Given the description of an element on the screen output the (x, y) to click on. 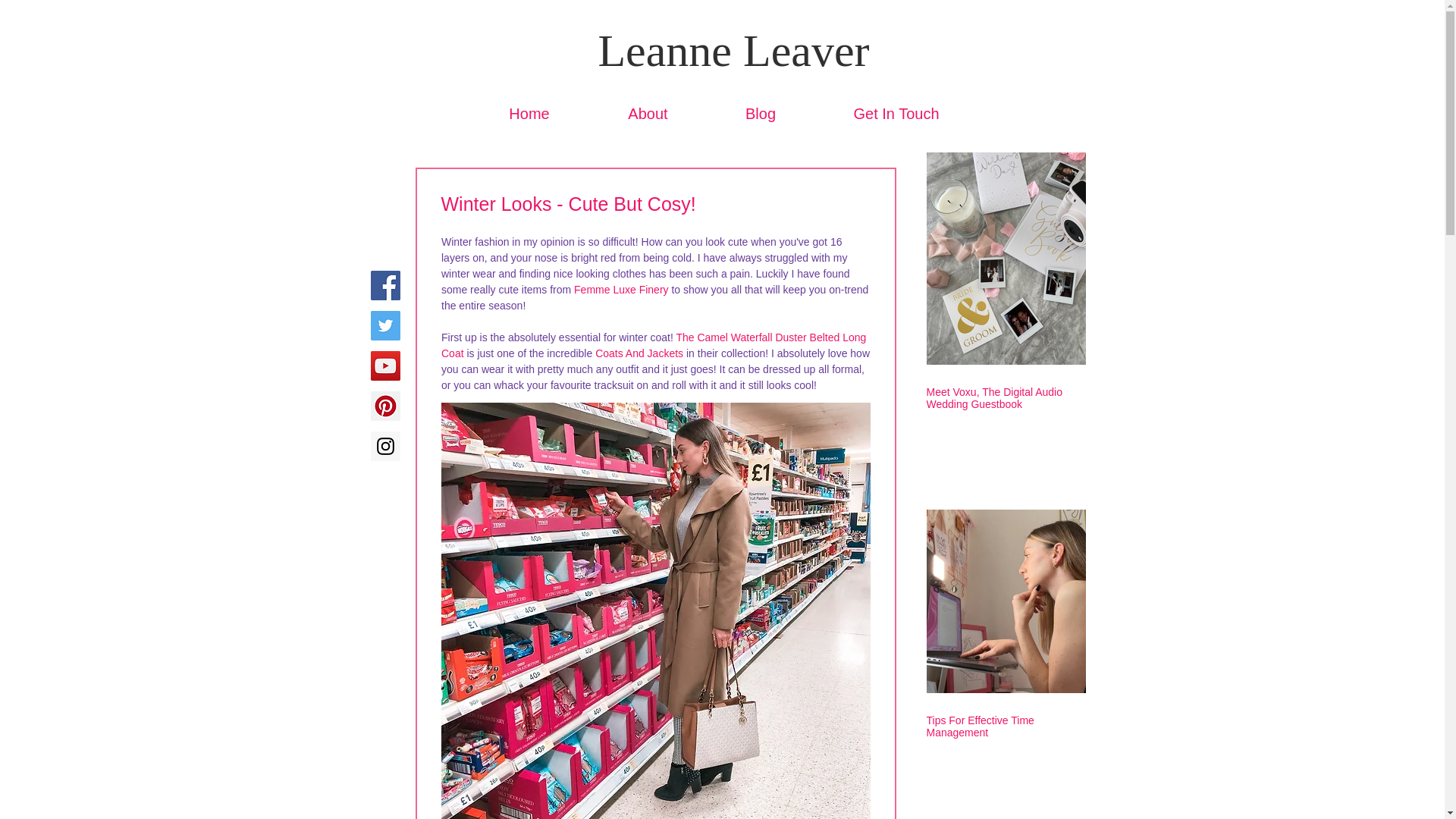
Tips For Effective Time Management (1006, 726)
Get In Touch (895, 113)
Femme Luxe Finery (620, 289)
About (647, 113)
Coats And Jackets (638, 353)
Blog (759, 113)
Home (529, 113)
Meet Voxu, The Digital Audio Wedding Guestbook (1006, 397)
The Camel Waterfall Duster Belted Long Coat (655, 345)
